Given the description of an element on the screen output the (x, y) to click on. 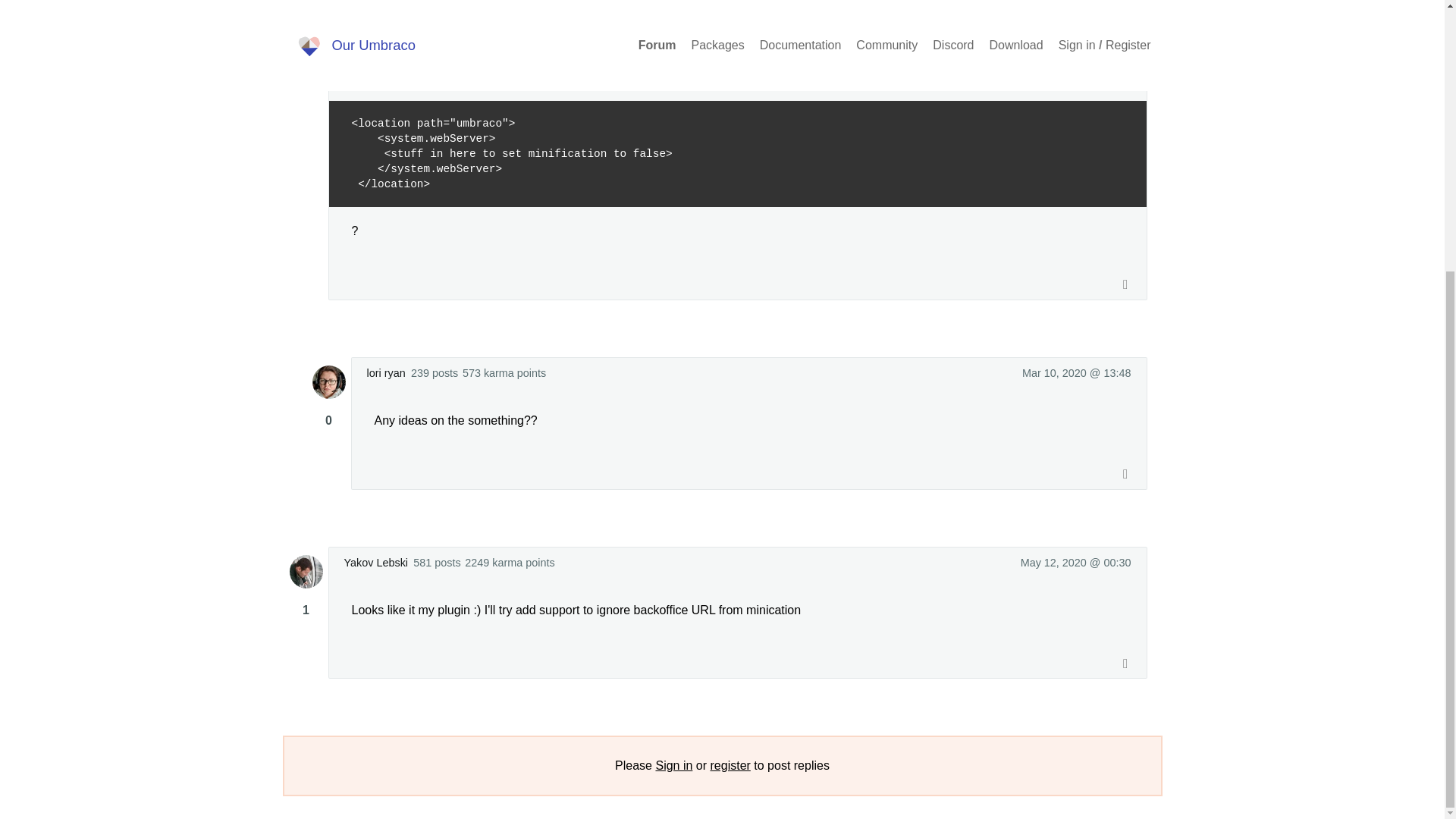
register (729, 765)
Sign in (674, 765)
Yakov Lebski (376, 563)
Paul (354, 32)
lori ryan (386, 373)
